Given the description of an element on the screen output the (x, y) to click on. 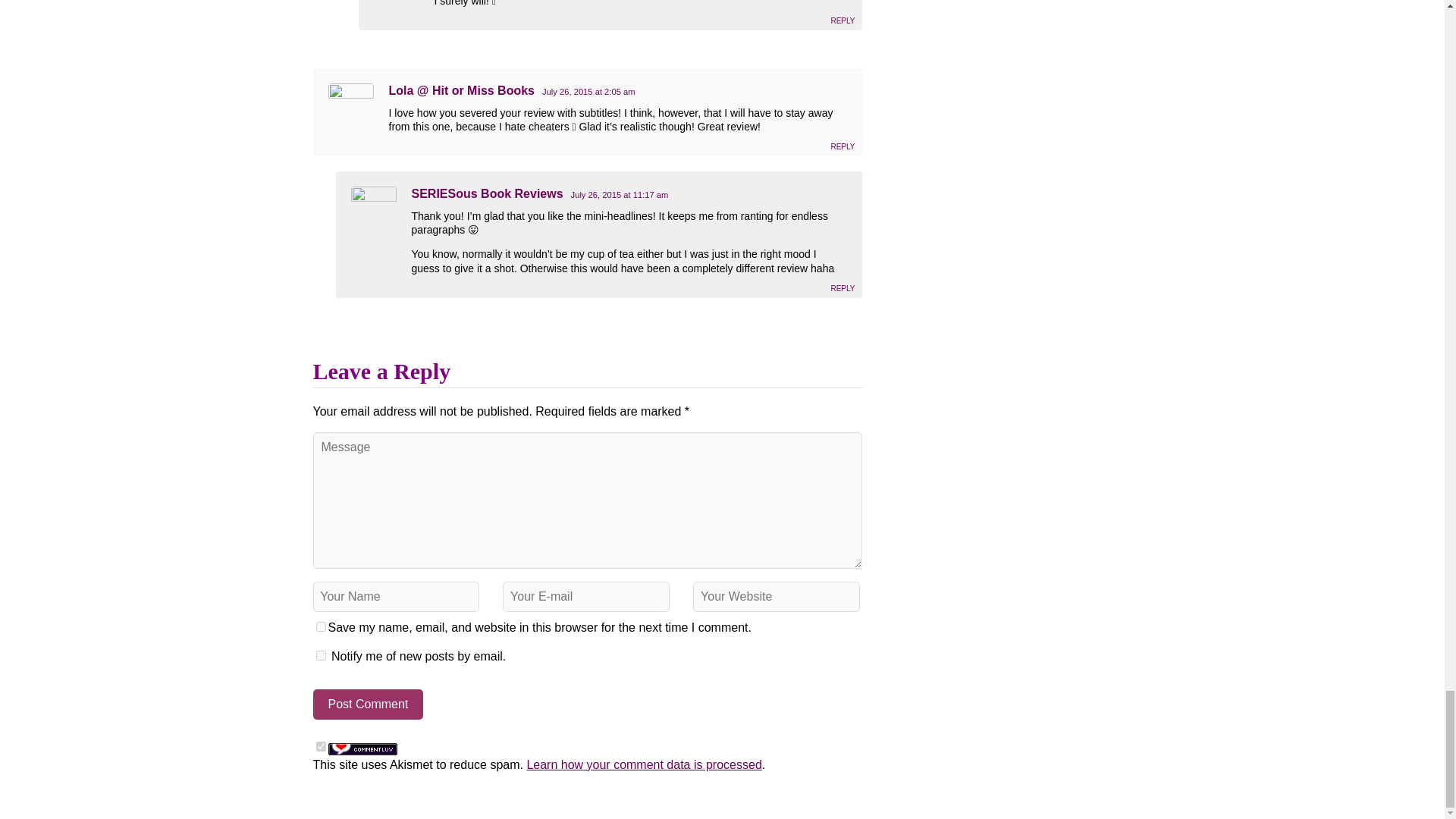
yes (319, 626)
Post Comment (368, 704)
subscribe (319, 655)
on (319, 746)
